Given the description of an element on the screen output the (x, y) to click on. 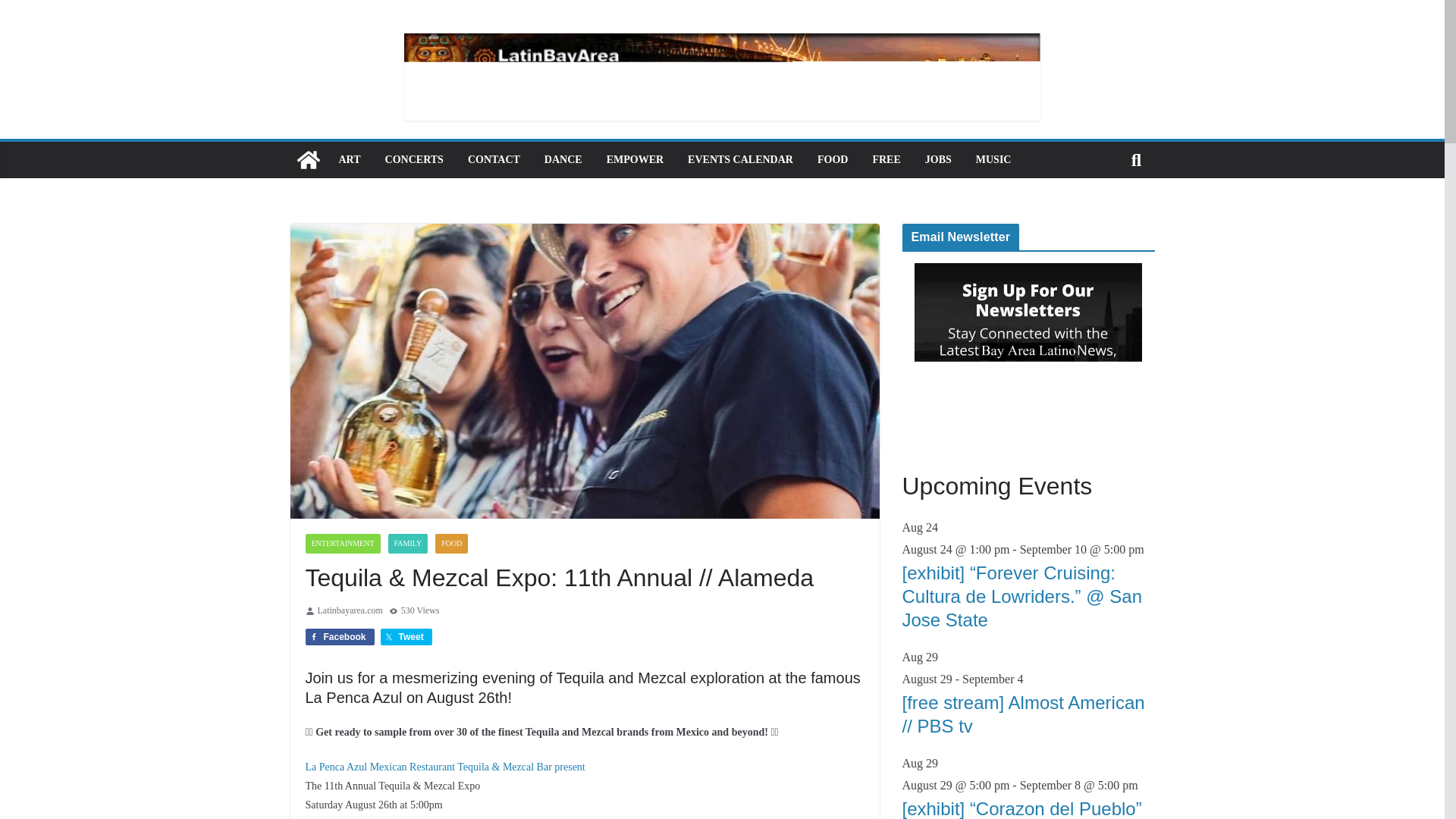
EVENTS CALENDAR (740, 159)
JOBS (938, 159)
CONCERTS (414, 159)
Tweet (406, 636)
CONTACT (493, 159)
Share on Twitter (406, 636)
FOOD (451, 543)
Facebook (339, 636)
Latinbayarea.com (349, 610)
Share on Facebook (339, 636)
